Given the description of an element on the screen output the (x, y) to click on. 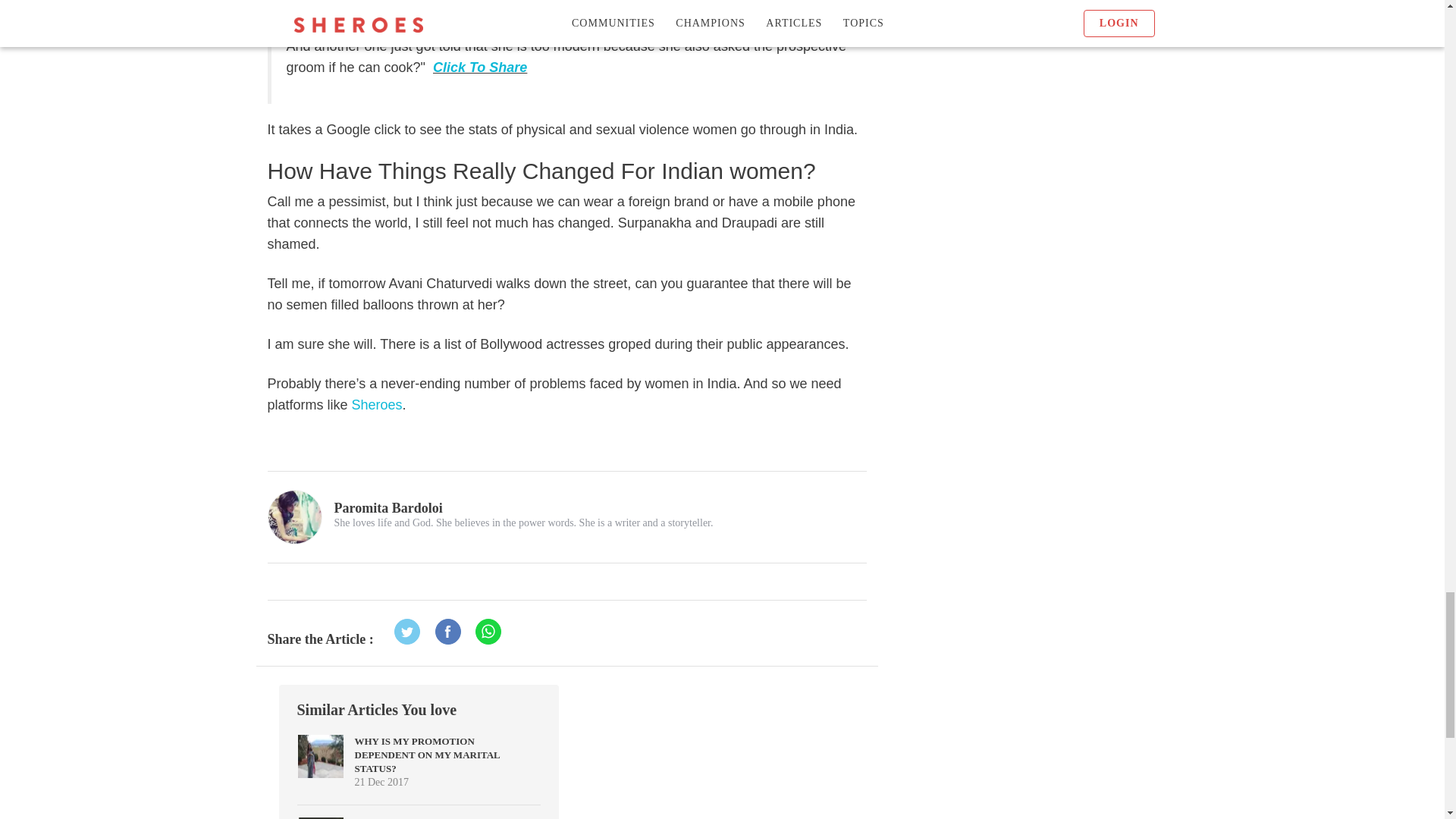
Sheroes (377, 404)
WHY IS MY PROMOTION DEPENDENT ON MY MARITAL STATUS? (427, 754)
Click To Share (479, 67)
